Given the description of an element on the screen output the (x, y) to click on. 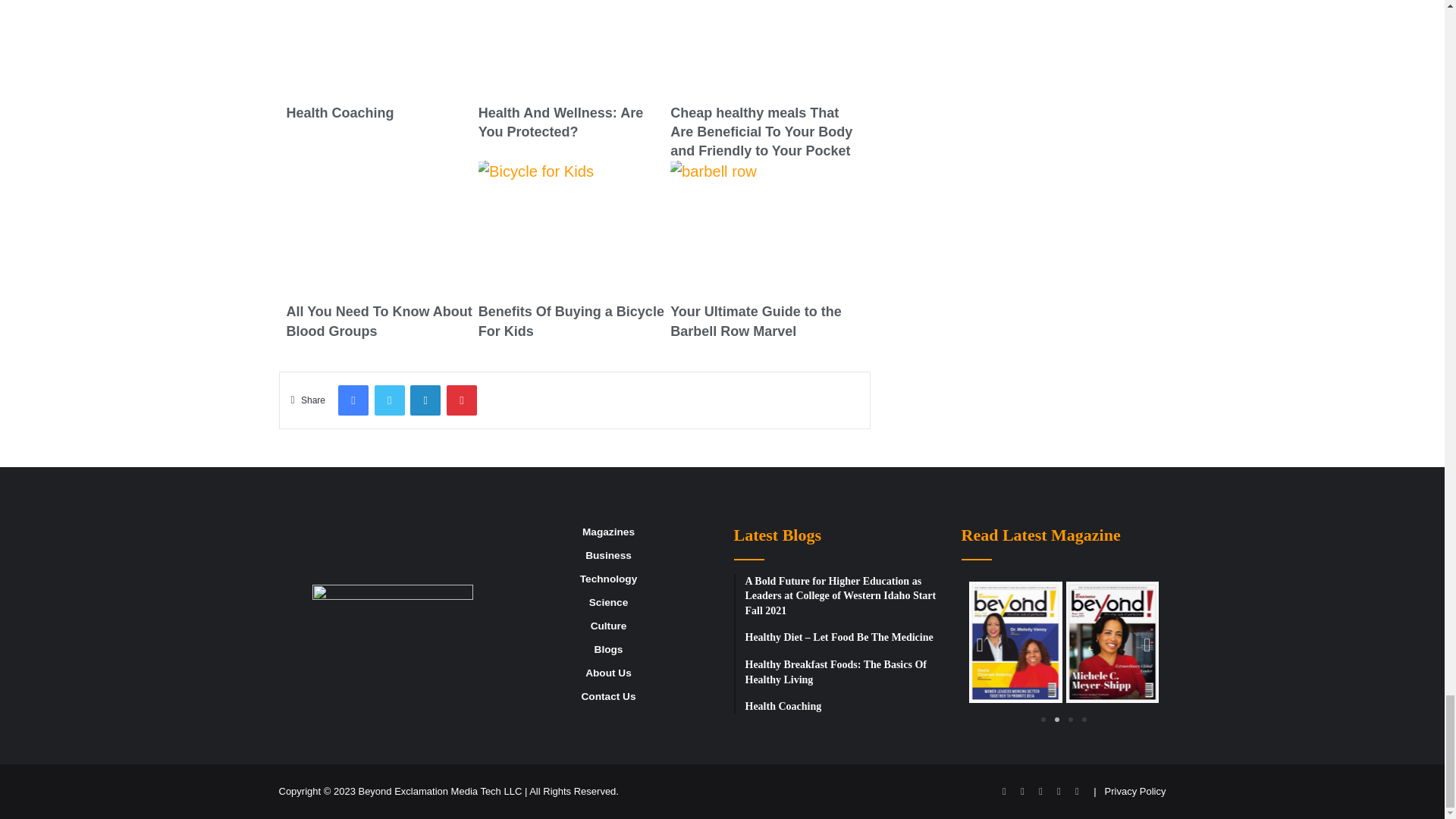
LinkedIn (425, 399)
Pinterest (461, 399)
Facebook (352, 399)
Twitter (389, 399)
